Given the description of an element on the screen output the (x, y) to click on. 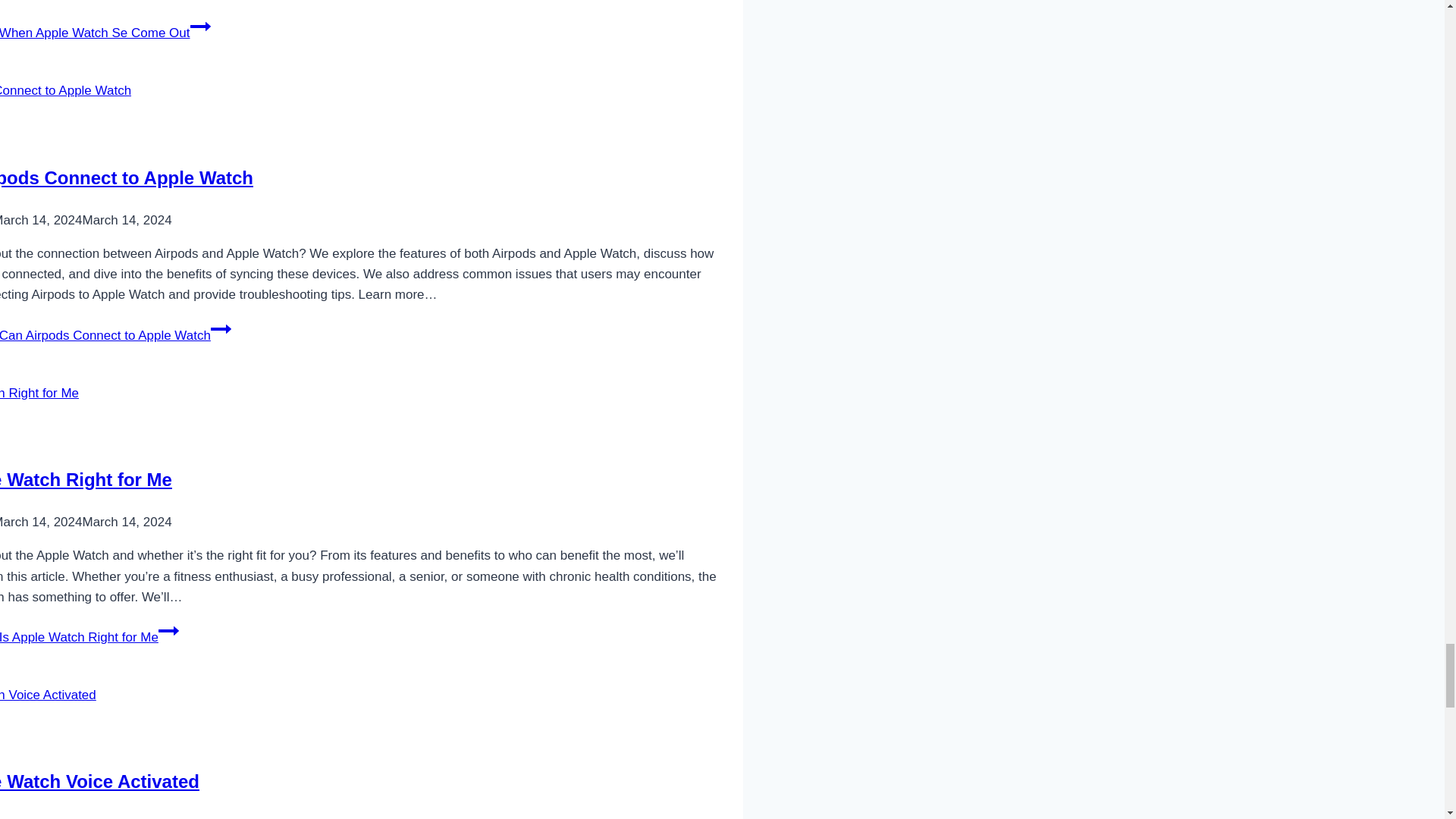
Continue (168, 630)
Continue (221, 328)
Can Airpods Connect to Apple Watch (126, 177)
Is Apple Watch Voice Activated (99, 781)
Read More Is Apple Watch Right for MeContinue (89, 636)
Is Apple Watch Right for Me (85, 479)
Read More Can Airpods Connect to Apple WatchContinue (115, 335)
Read More When Apple Watch Se Come OutContinue (105, 32)
Continue (199, 25)
